Given the description of an element on the screen output the (x, y) to click on. 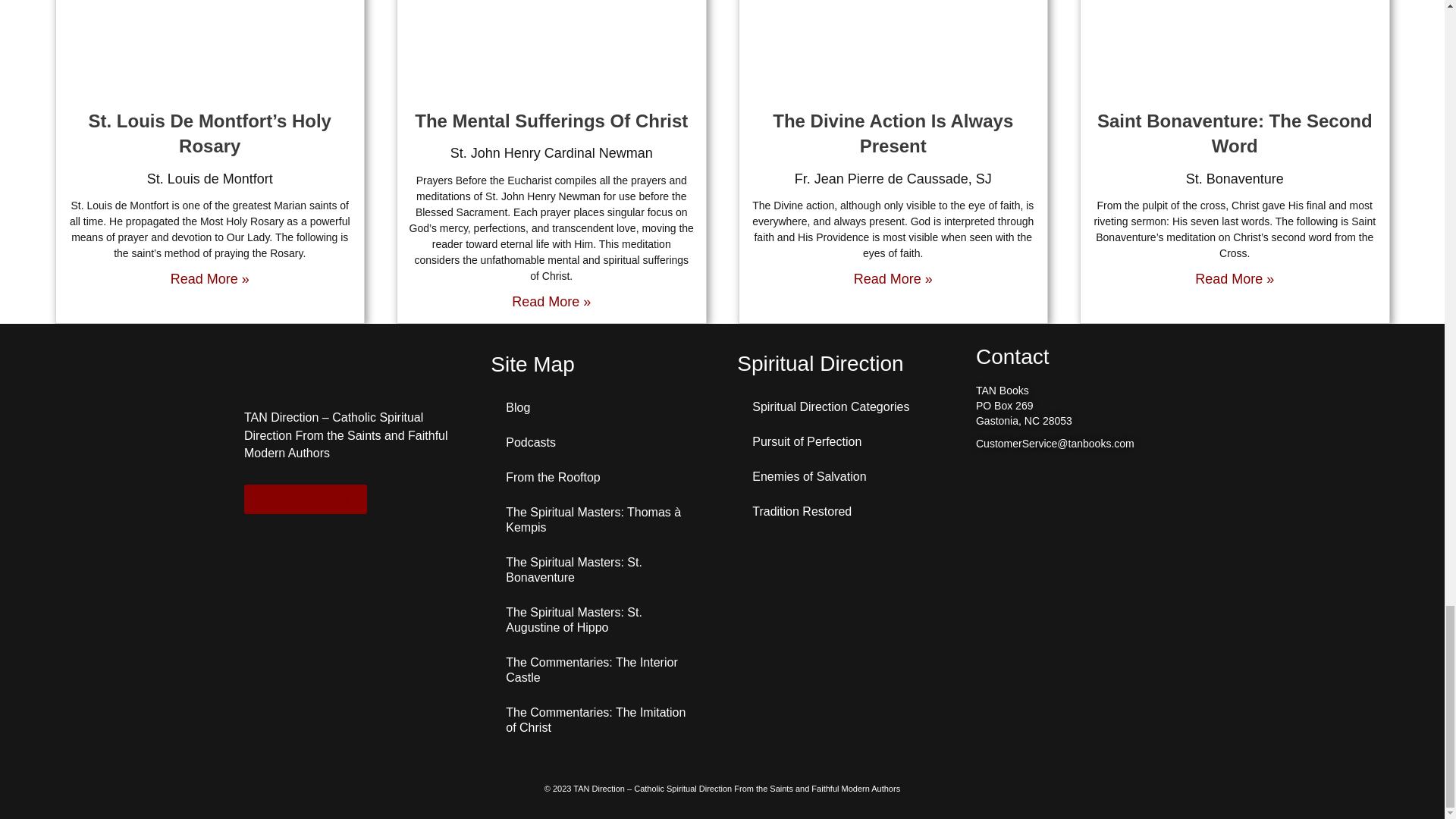
The Mental Sufferings Of Christ (550, 120)
From the Rooftop (598, 477)
Saint Bonaventure: The Second Word (1235, 133)
The Divine Action Is Always Present (893, 133)
Blog (598, 407)
The Commentaries: The Interior Castle (598, 670)
The Spiritual Masters: St. Augustine of Hippo (598, 620)
Shop TAN Books (305, 499)
Podcasts (598, 442)
The Spiritual Masters: St. Bonaventure (598, 570)
